Given the description of an element on the screen output the (x, y) to click on. 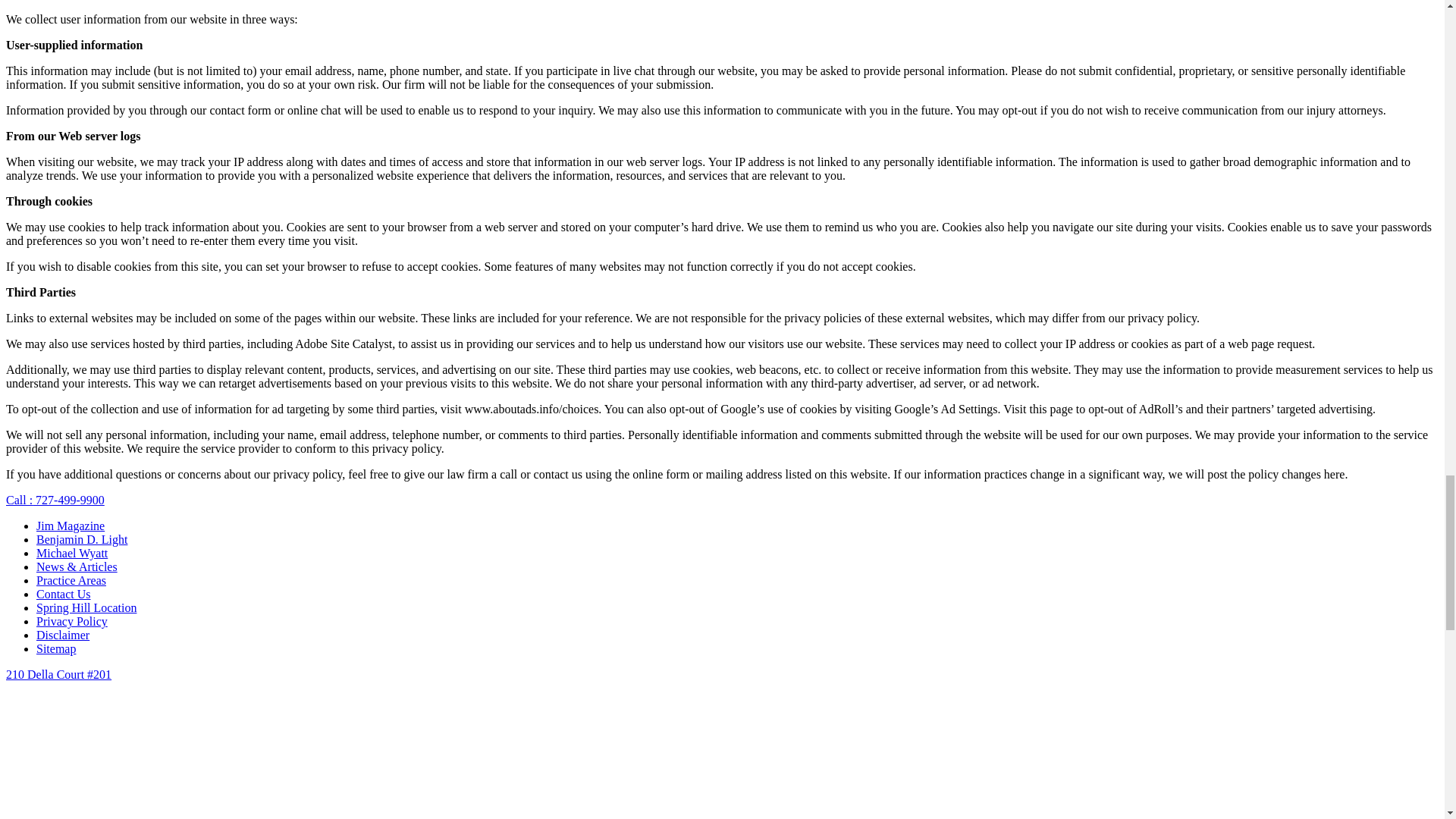
Jim Magazine (70, 525)
Spring Hill Location (86, 607)
Map 1 (362, 750)
Contact Us (63, 594)
Disclaimer (62, 634)
Sitemap (55, 648)
Benjamin D. Light (82, 539)
Call : 727-499-9900 (54, 499)
Practice Areas (71, 580)
Privacy Policy (71, 621)
